Given the description of an element on the screen output the (x, y) to click on. 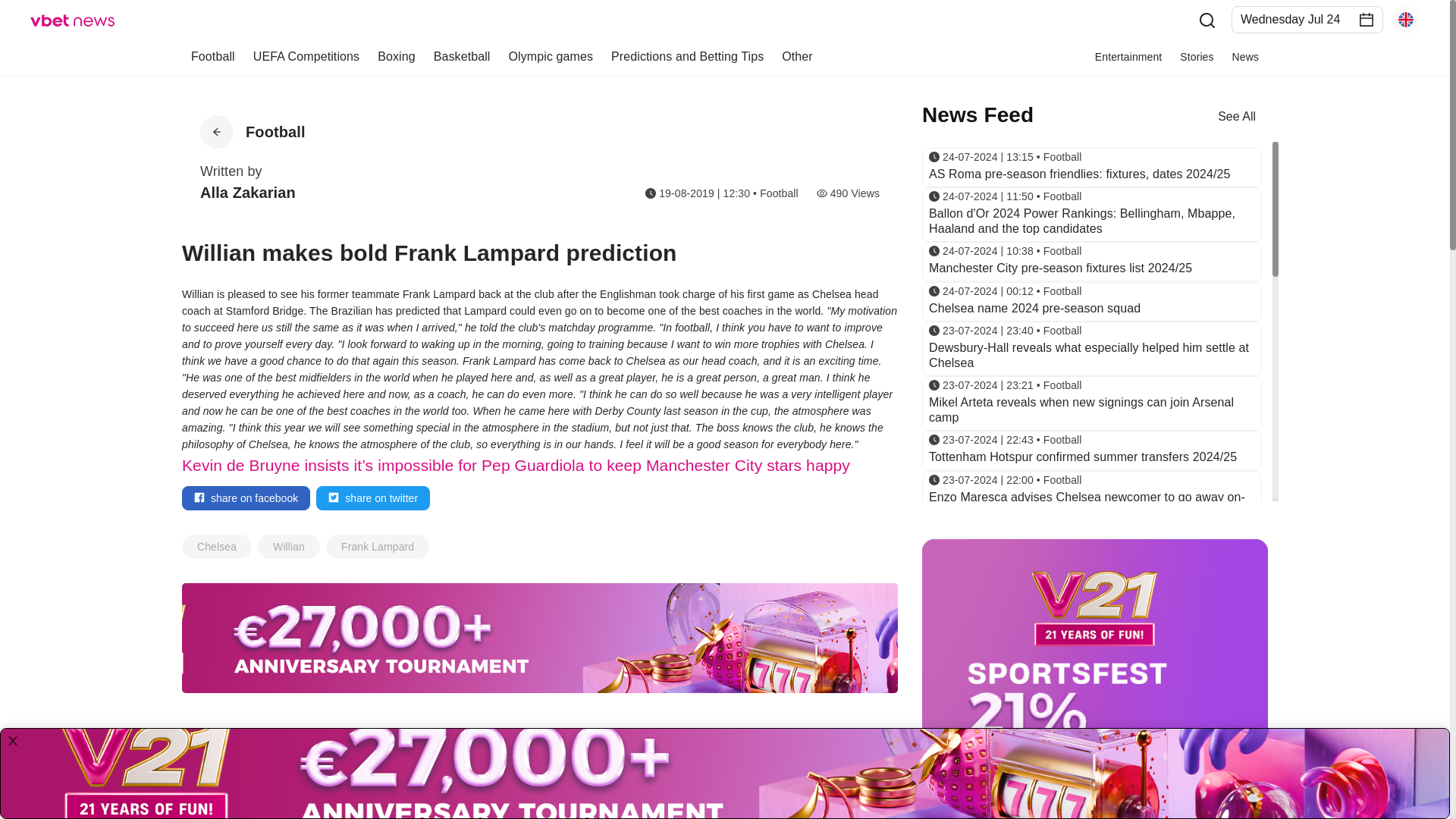
See All (866, 745)
Chelsea (216, 546)
Wednesday Jul 24 (1297, 18)
share on facebook (246, 498)
Football (275, 131)
See All (1236, 115)
Frank Lampard (377, 546)
Willian (288, 546)
share on twitter (372, 498)
Wednesday Jul 24 (1297, 18)
